Given the description of an element on the screen output the (x, y) to click on. 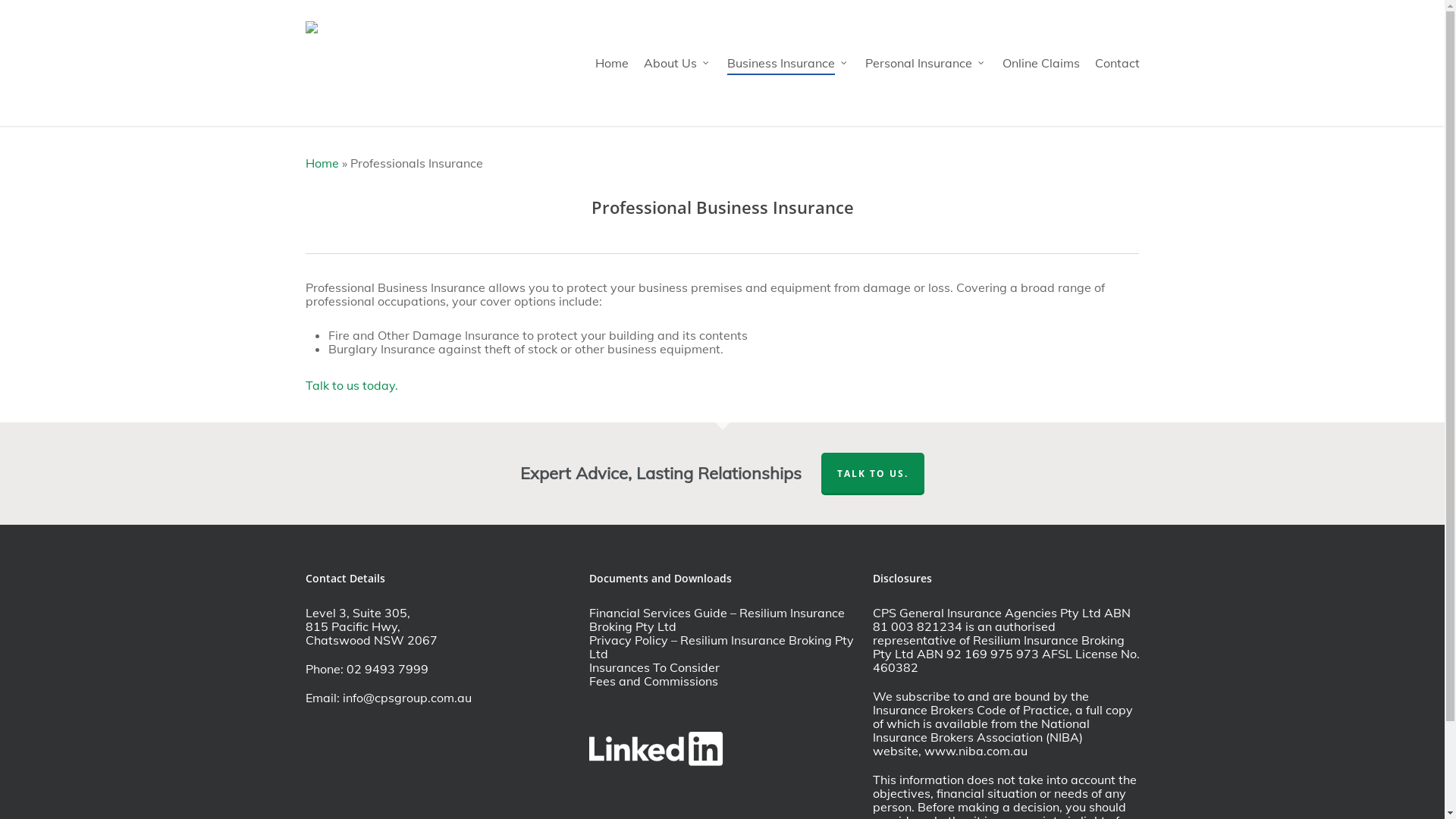
815 Pacific Hwy, Element type: text (351, 625)
TALK TO US. Element type: text (872, 473)
Personal Insurance Element type: text (925, 62)
Fees and Commissions Element type: text (652, 680)
Insurances To Consider Element type: text (653, 666)
Business Insurance Element type: text (787, 62)
www.niba.com.au Element type: text (974, 750)
Chatswood NSW 2067 Element type: text (370, 639)
Home Element type: text (321, 162)
Talk to us today. Element type: text (351, 384)
Level 3, Suite 305, Element type: text (356, 612)
Home Element type: text (610, 62)
info@cpsgroup.com.au Element type: text (406, 697)
Online Claims Element type: text (1040, 62)
About Us Element type: text (677, 62)
Contact Element type: text (1117, 62)
